Given the description of an element on the screen output the (x, y) to click on. 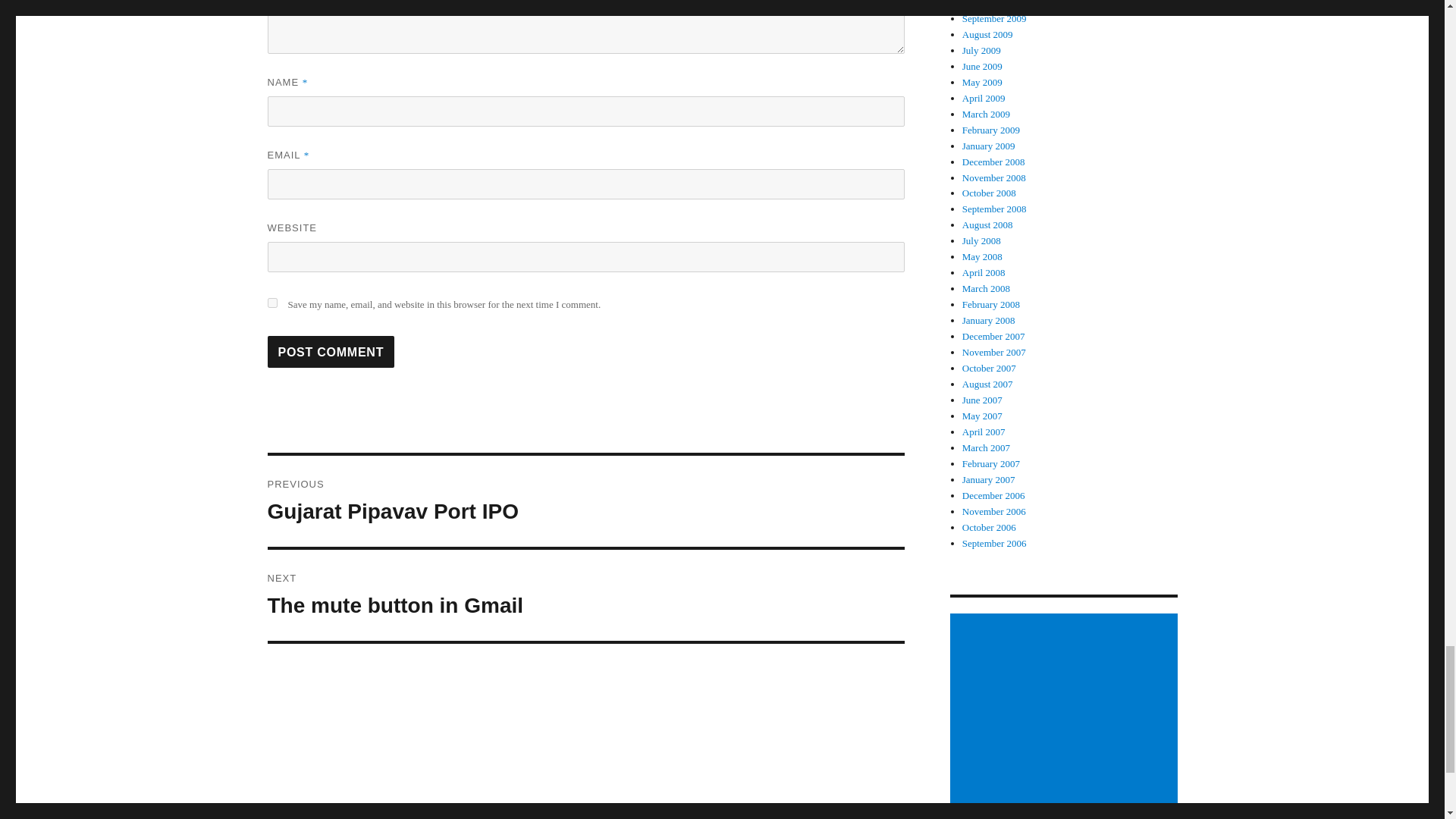
yes (585, 501)
Post Comment (585, 594)
Post Comment (271, 302)
